Given the description of an element on the screen output the (x, y) to click on. 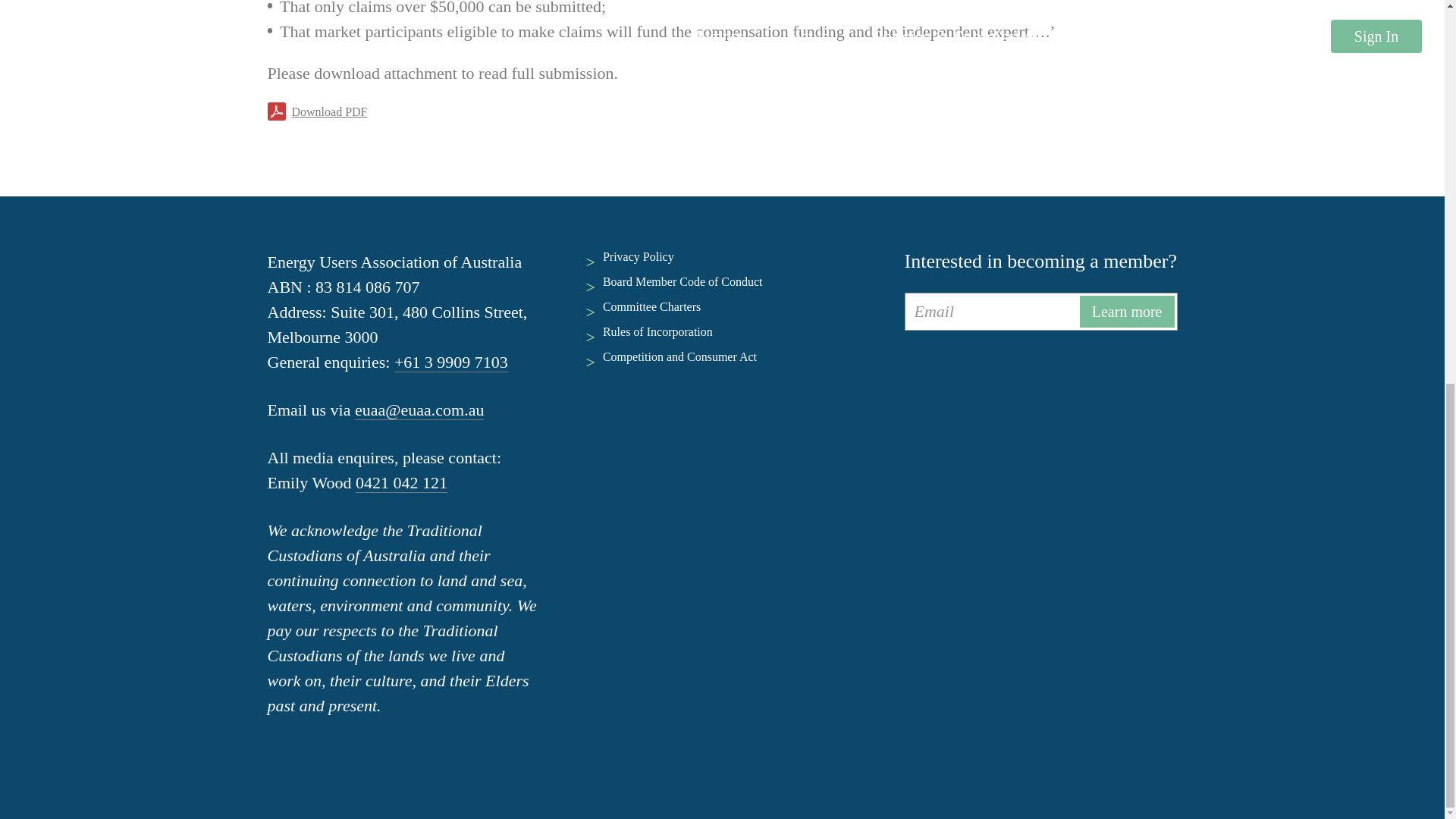
Committee Charters (651, 305)
0421 042 121 (400, 483)
Download PDF (328, 110)
Competition and Consumer Act (679, 355)
Privacy Policy (638, 255)
Learn more (1127, 311)
Board Member Code of Conduct (682, 281)
Rules of Incorporation (657, 331)
Learn more (1127, 311)
